Given the description of an element on the screen output the (x, y) to click on. 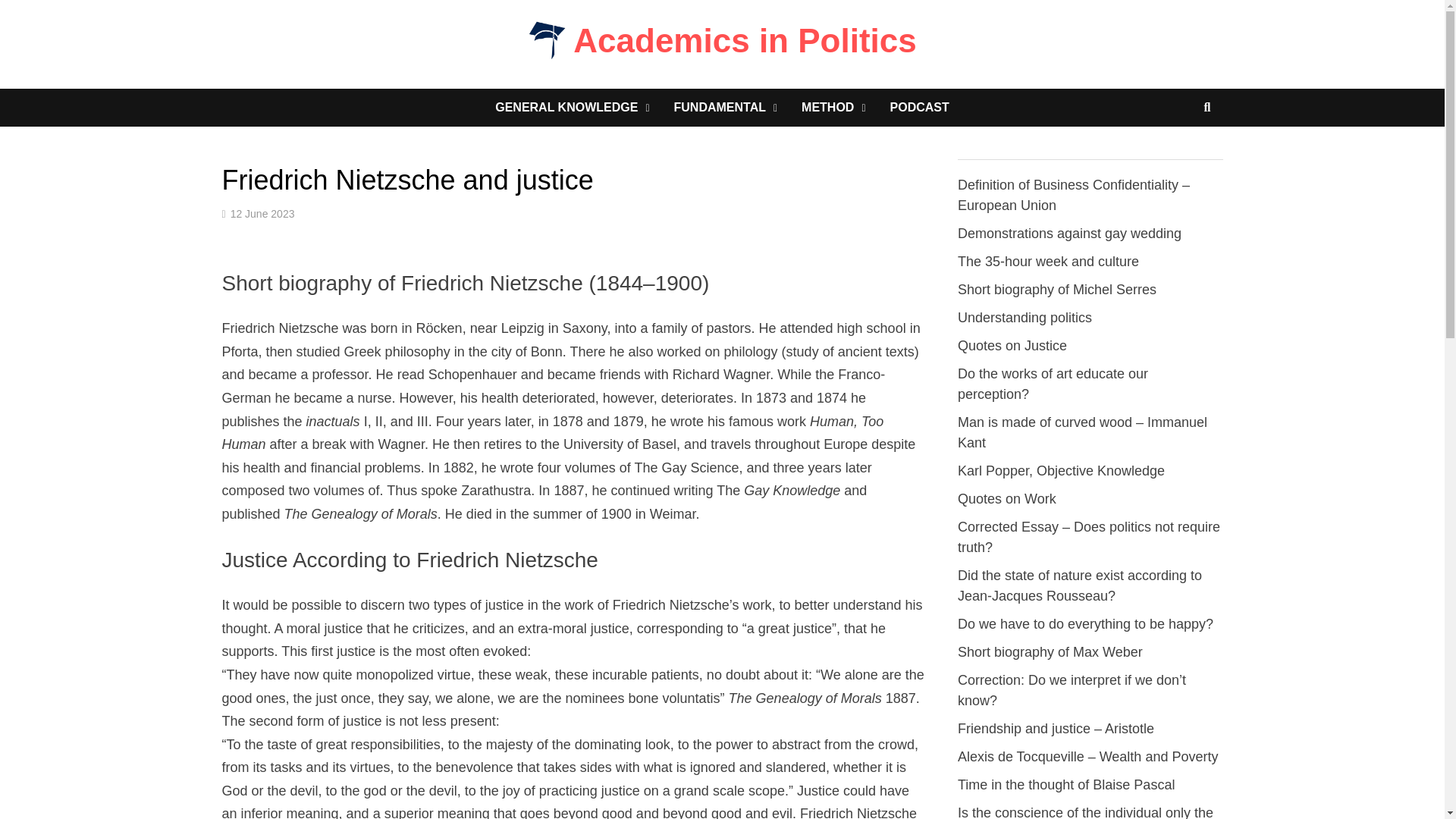
GENERAL KNOWLEDGE (572, 107)
FUNDAMENTAL (725, 107)
PODCAST (918, 107)
Academics in Politics (744, 40)
12 June 2023 (262, 214)
METHOD (833, 107)
